Given the description of an element on the screen output the (x, y) to click on. 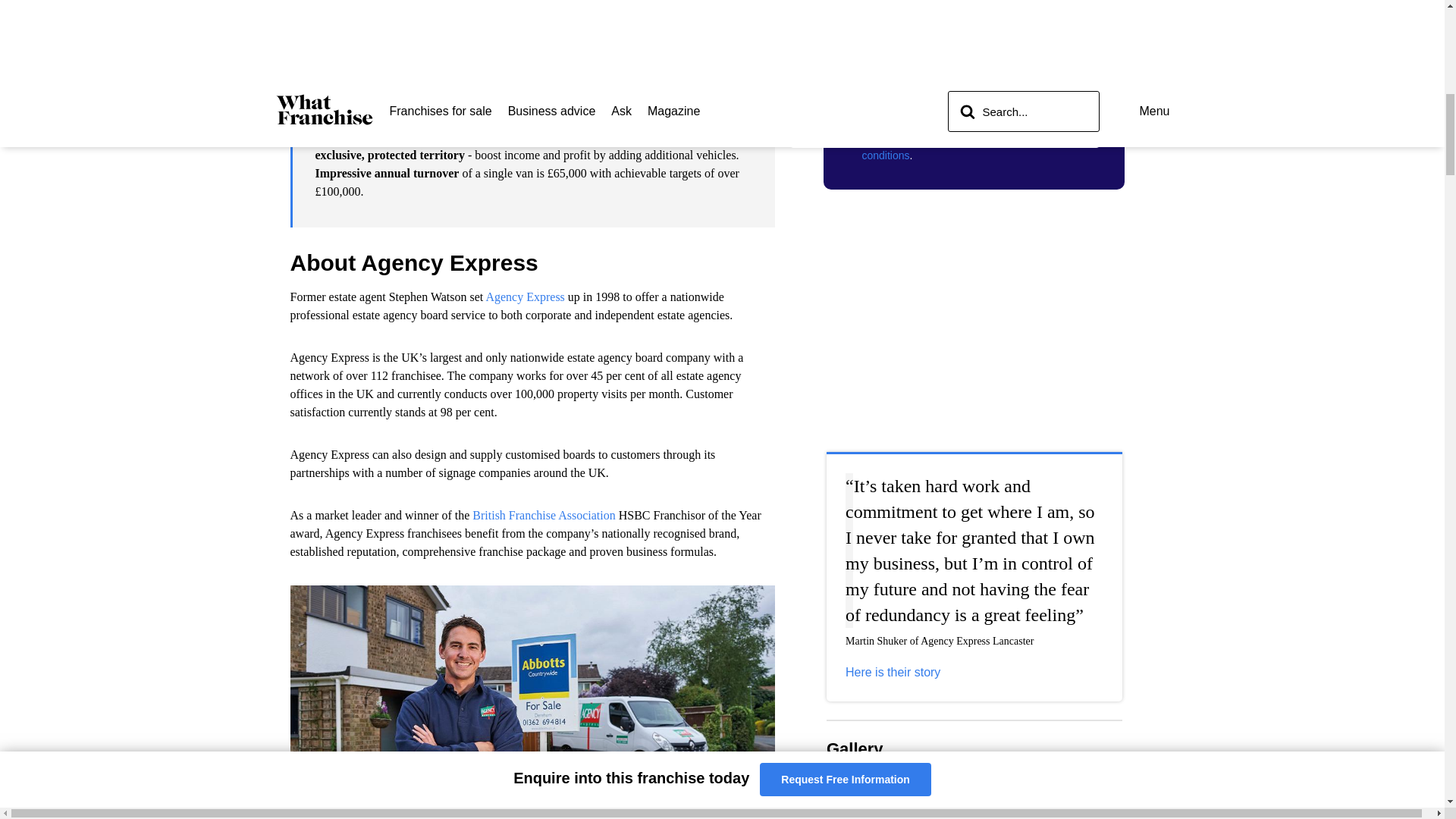
Request Free Information (973, 100)
true (868, 66)
3rd party ad content (973, 302)
